Given the description of an element on the screen output the (x, y) to click on. 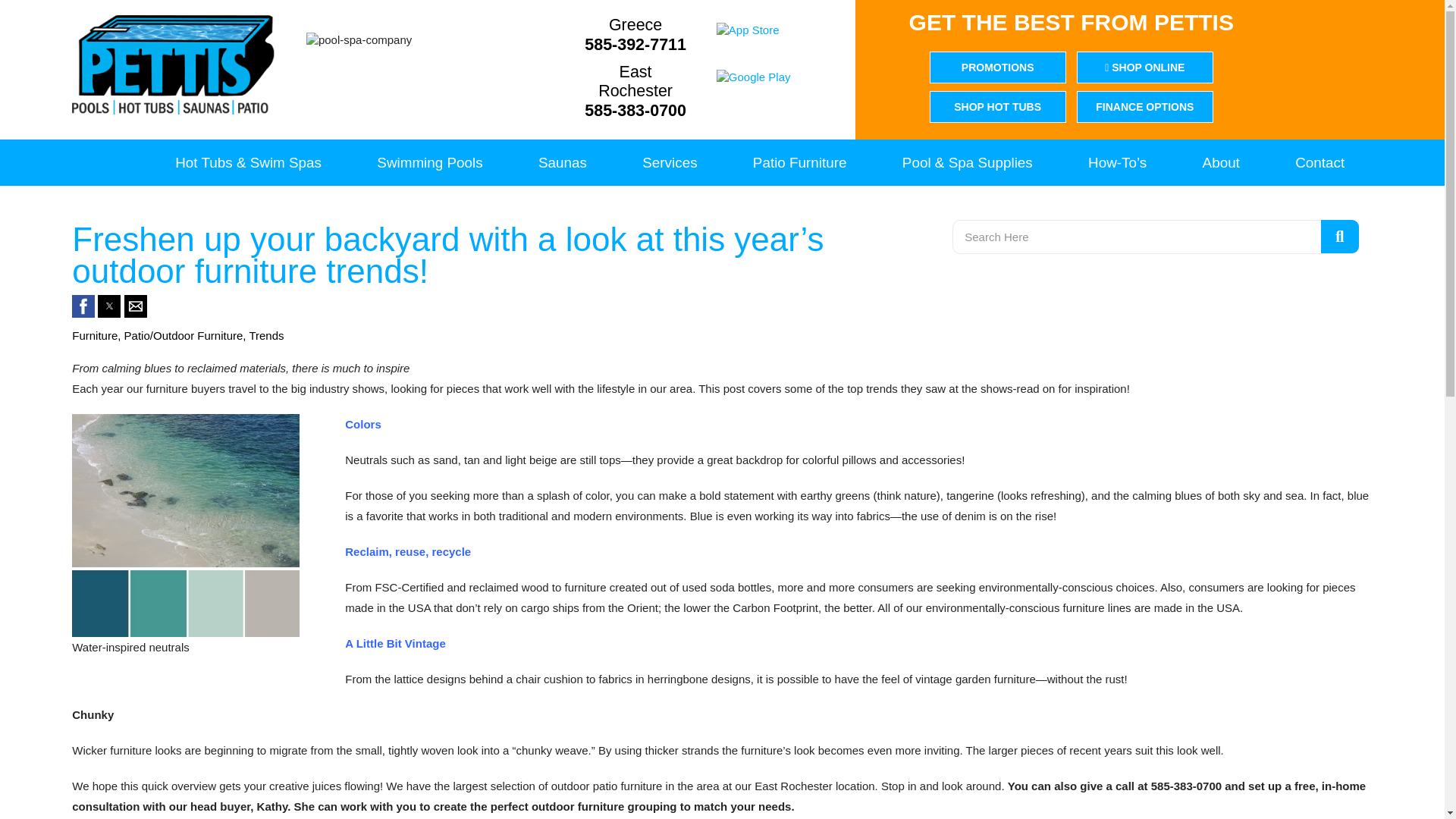
SHOP HOT TUBS (997, 106)
Swimming Pools (430, 162)
585-392-7711 (635, 45)
585-383-0700 (635, 111)
Water-inspired neutrals (185, 525)
SHOP ONLINE (1144, 67)
Home (109, 162)
PROMOTIONS (997, 67)
FINANCE OPTIONS (1144, 106)
